Given the description of an element on the screen output the (x, y) to click on. 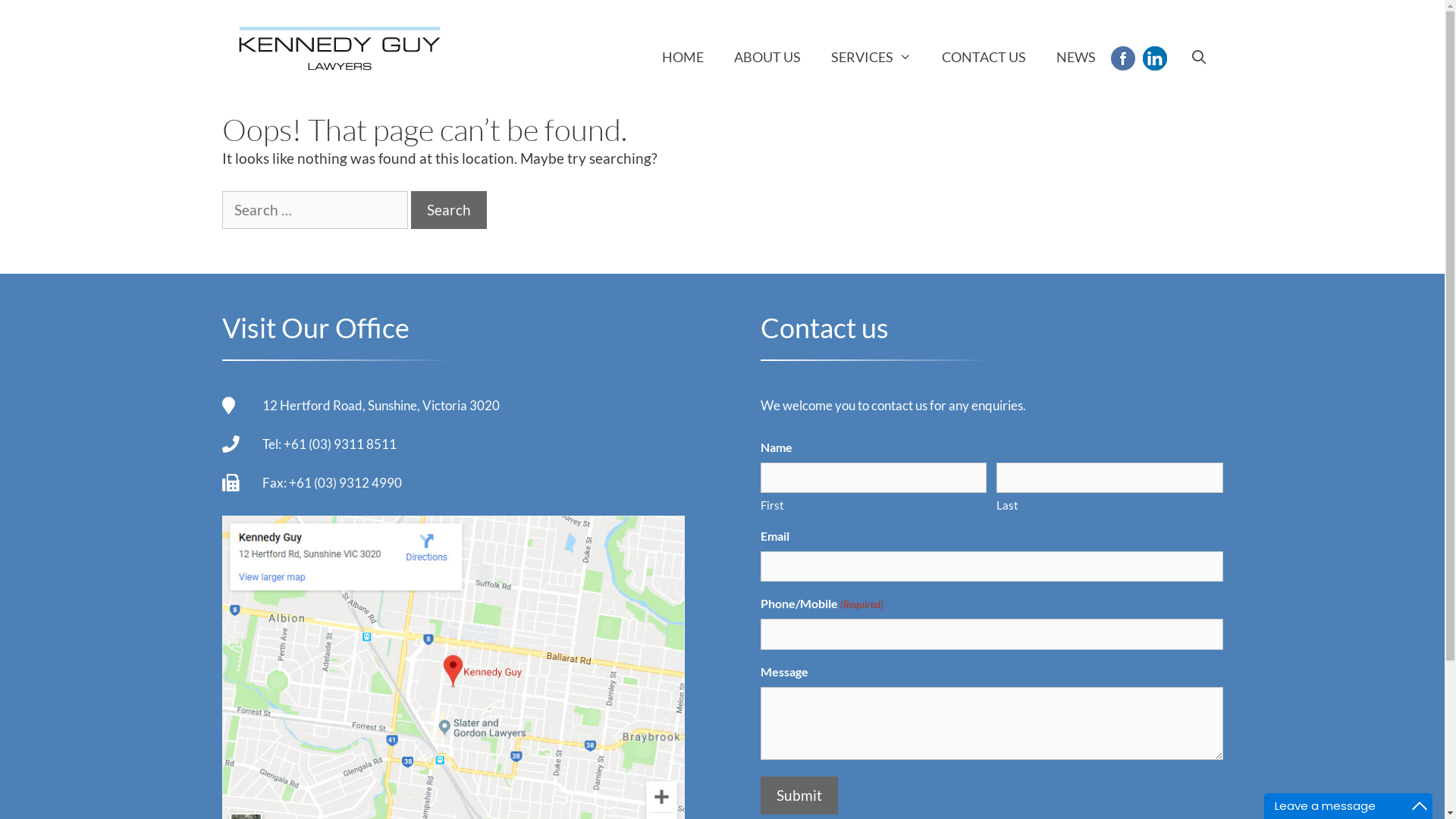
NEWS Element type: text (1075, 56)
Submit Element type: text (798, 795)
SERVICES Element type: text (870, 56)
Search Element type: text (448, 210)
Tel: +61 (03) 9311 8511 Element type: text (329, 443)
CONTACT US Element type: text (983, 56)
Maximize Element type: hover (1419, 806)
ABOUT US Element type: text (766, 56)
Search for: Element type: hover (314, 210)
HOME Element type: text (682, 56)
